Given the description of an element on the screen output the (x, y) to click on. 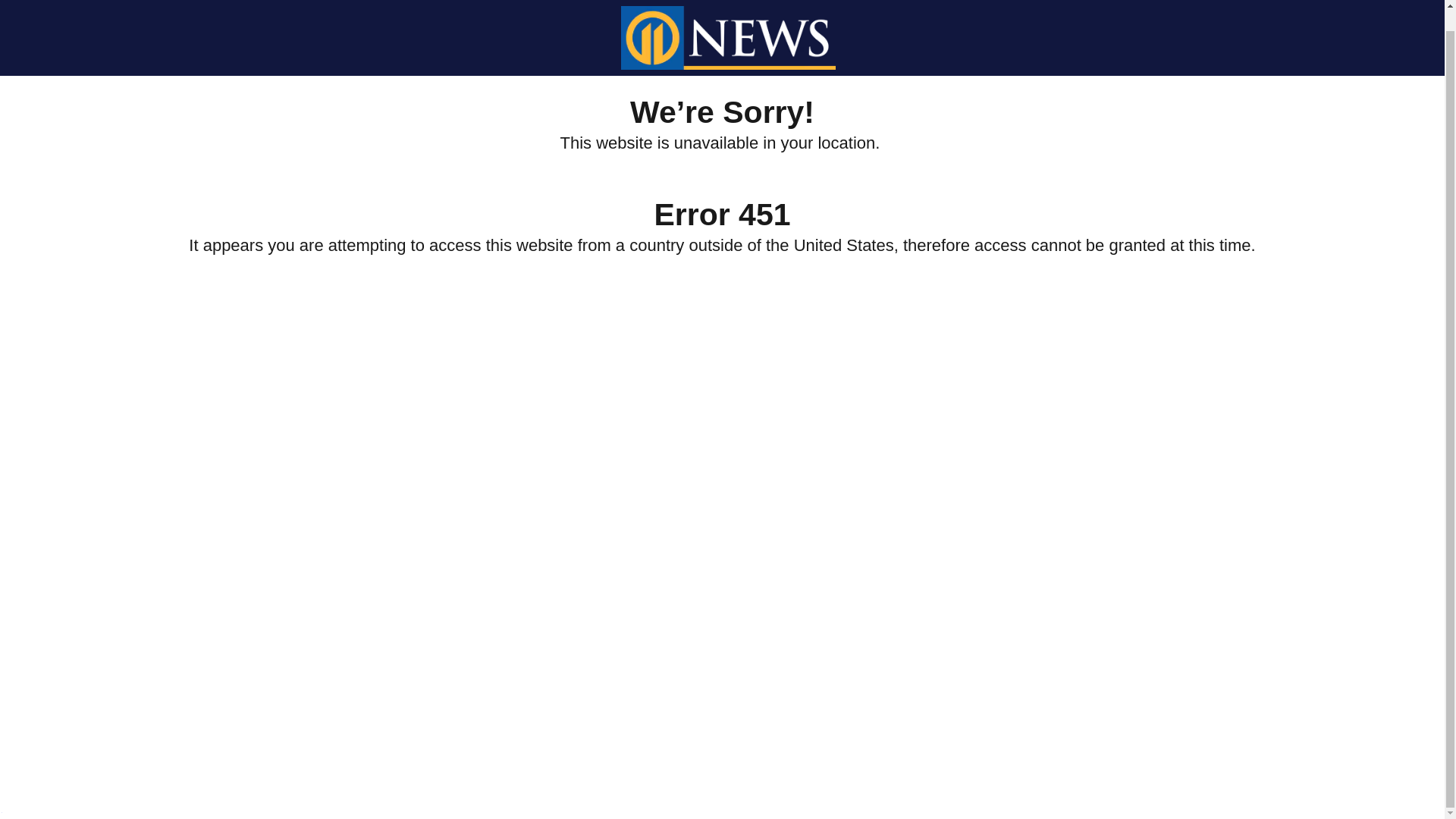
WPXI Channel 11 Pittsburgh Logo (728, 24)
